Given the description of an element on the screen output the (x, y) to click on. 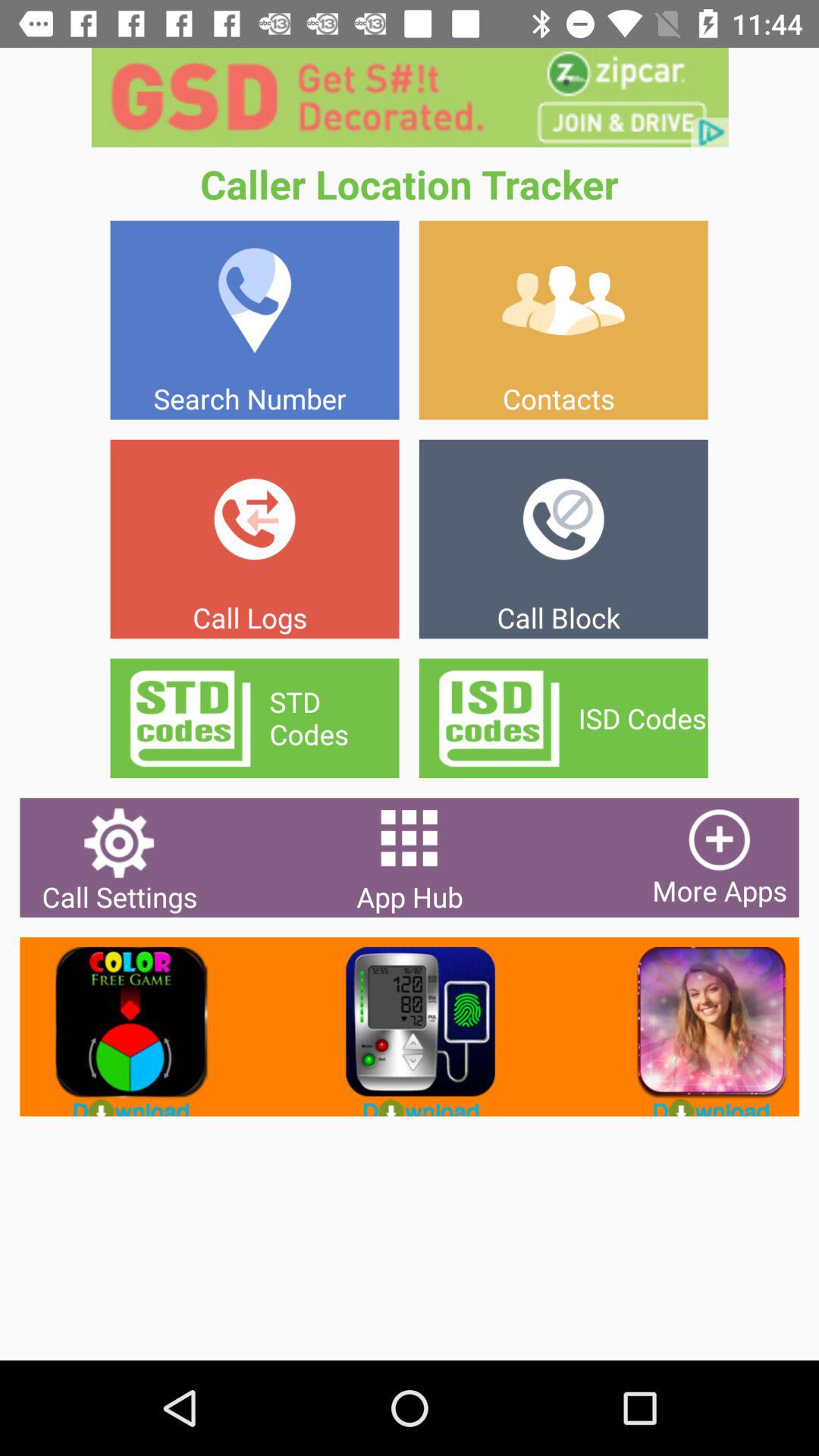
advertisement (699, 1026)
